Given the description of an element on the screen output the (x, y) to click on. 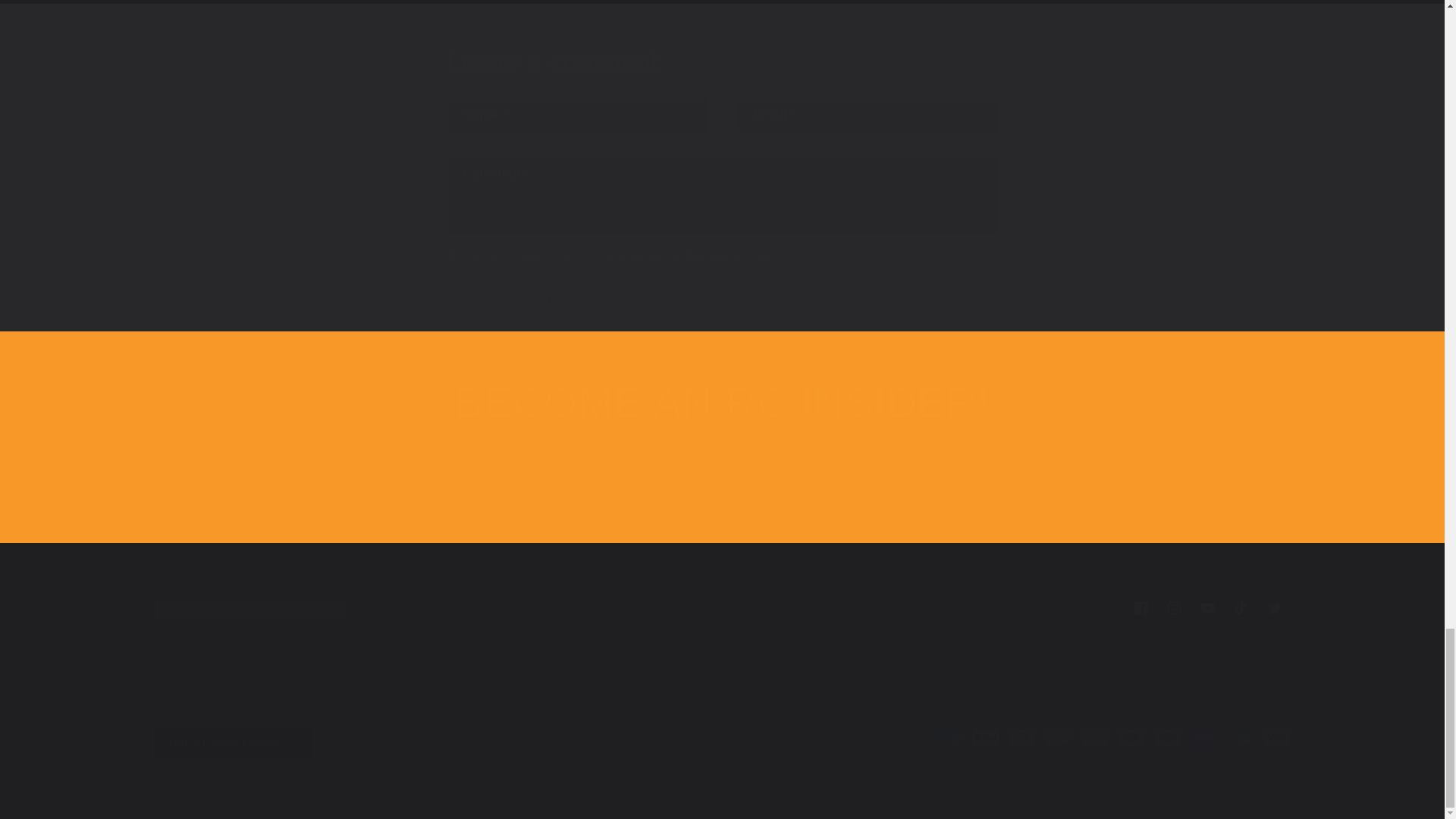
BECOME AN RC INSIDER! (721, 402)
Email (721, 607)
Post comment (722, 497)
